Given the description of an element on the screen output the (x, y) to click on. 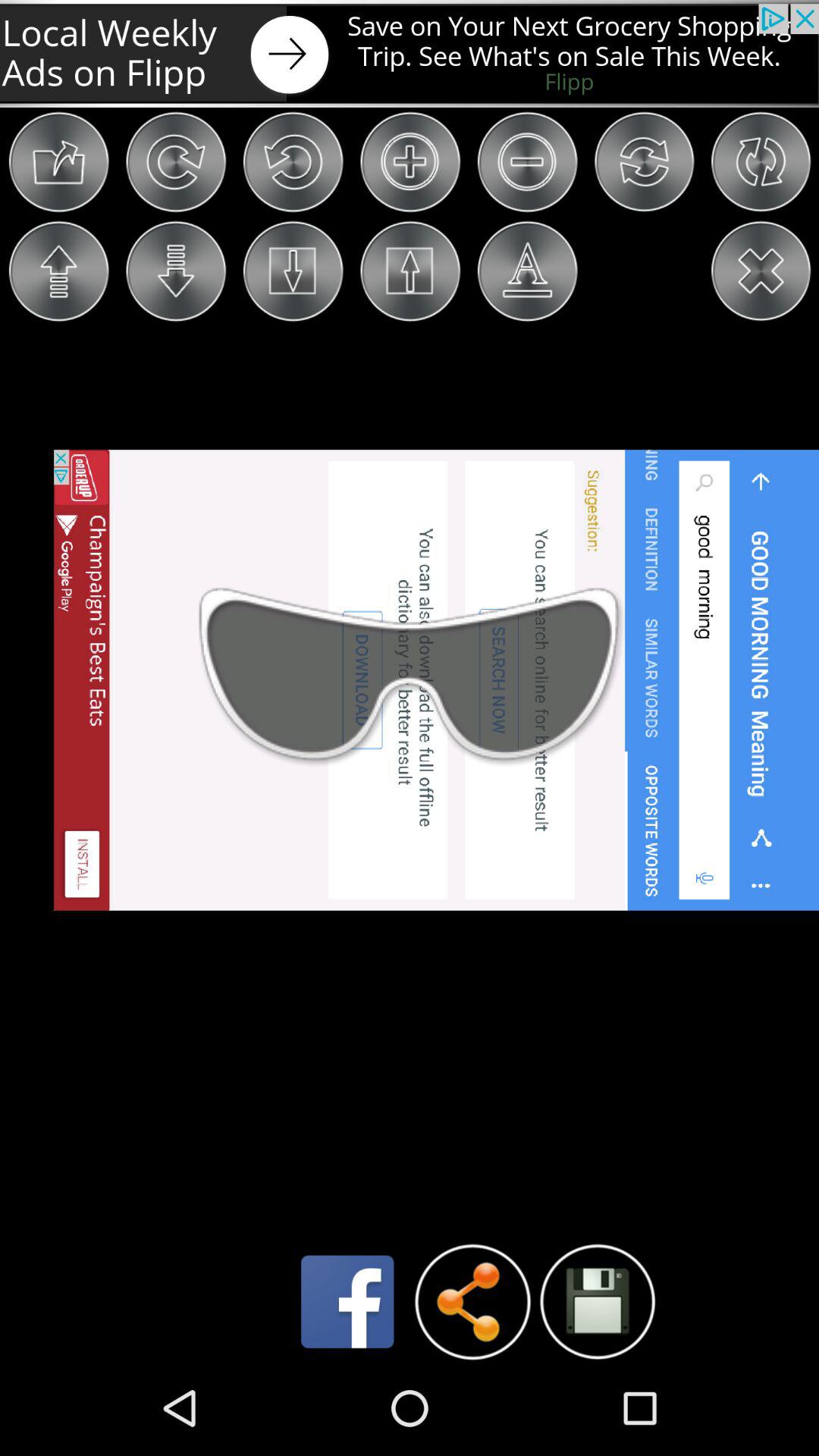
click on the share button (472, 1301)
click on the icon top right corner (760, 161)
click the icon which is right of share icon (597, 1301)
click on minus icon on right side of plus icon (527, 161)
click on the third downward arrow icon in the second row (293, 271)
click on the synchronize icon in the first row and second place from right side (643, 161)
